Given the description of an element on the screen output the (x, y) to click on. 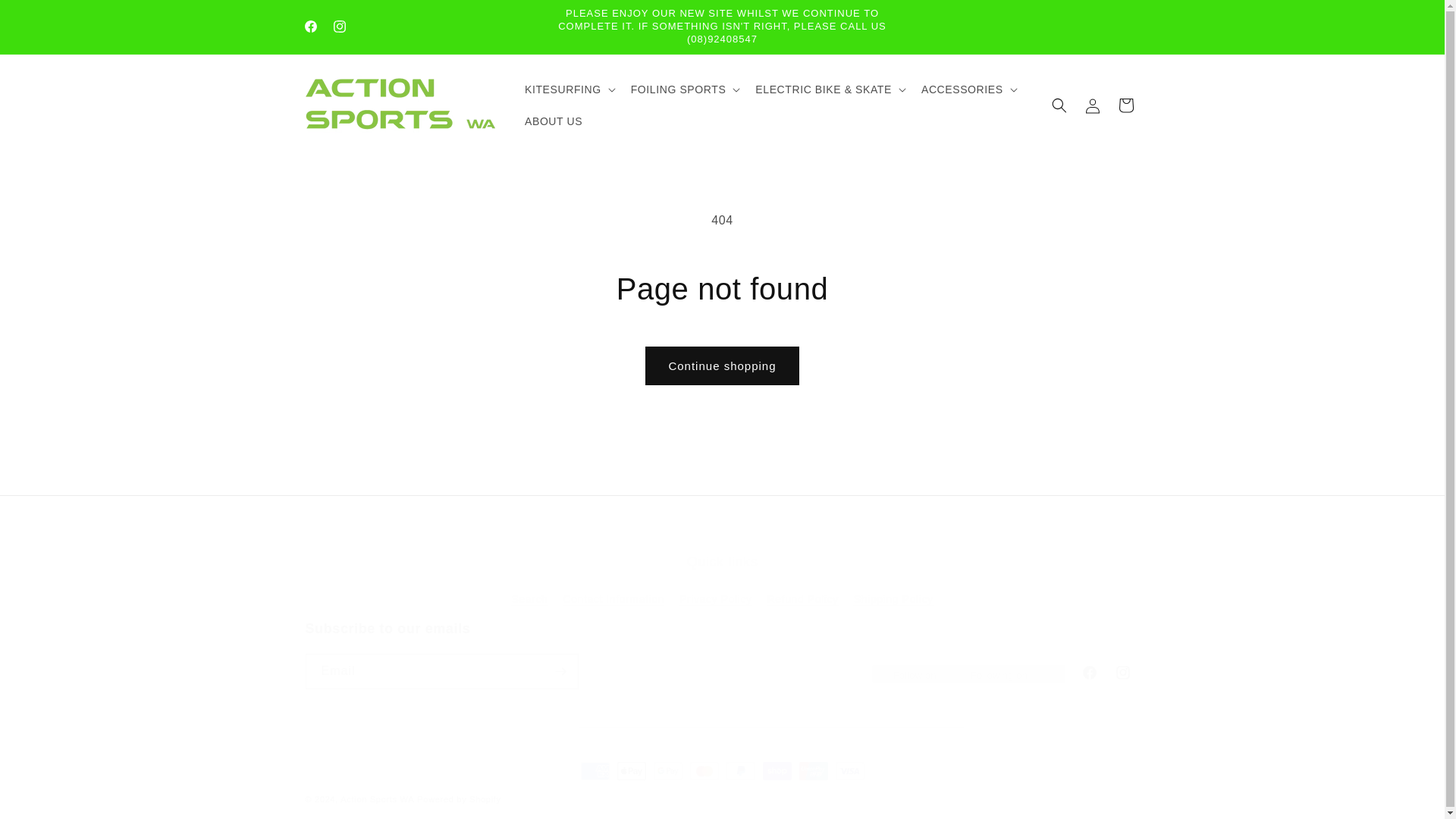
Instagram (338, 26)
Skip to content (47, 18)
Facebook (309, 26)
